Given the description of an element on the screen output the (x, y) to click on. 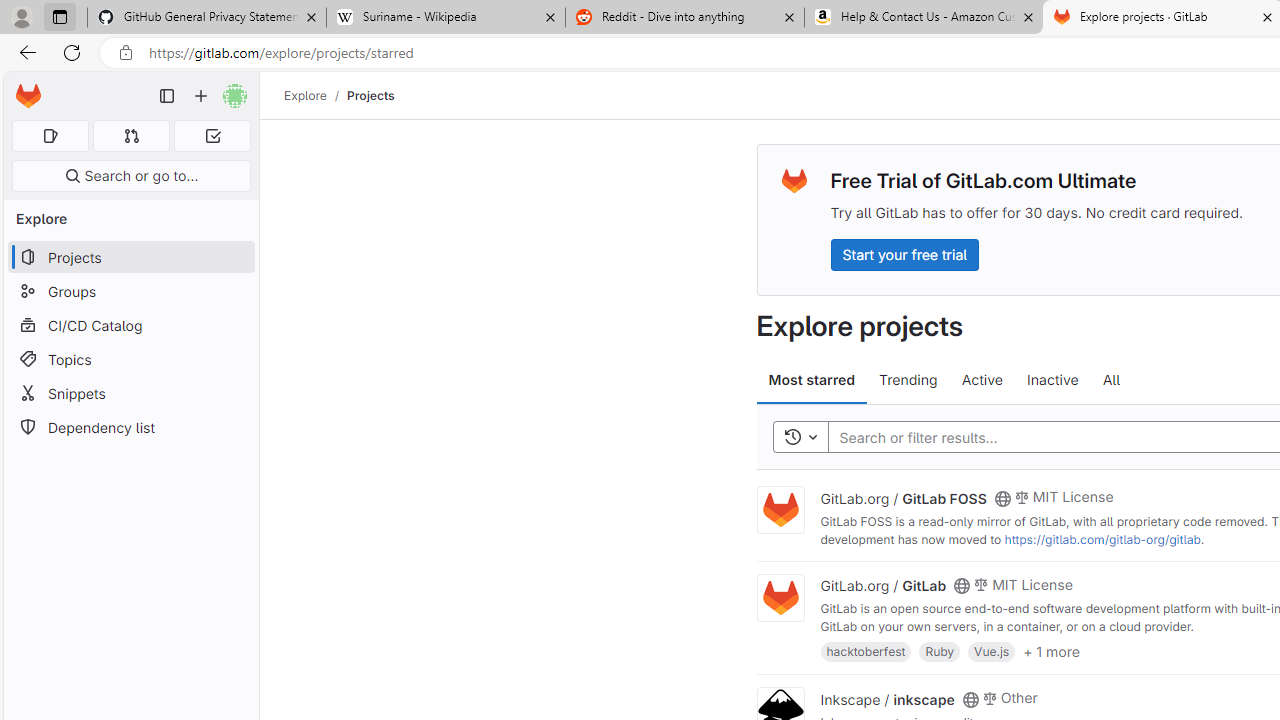
GitHub General Privacy Statement - GitHub Docs (207, 17)
hacktoberfest (866, 650)
Assigned issues 0 (50, 136)
Active (982, 379)
Trending (907, 379)
Dependency list (130, 427)
Start your free trial (904, 254)
Suriname - Wikipedia (445, 17)
To-Do list 0 (212, 136)
Projects (370, 95)
Groups (130, 291)
Groups (130, 291)
